Given the description of an element on the screen output the (x, y) to click on. 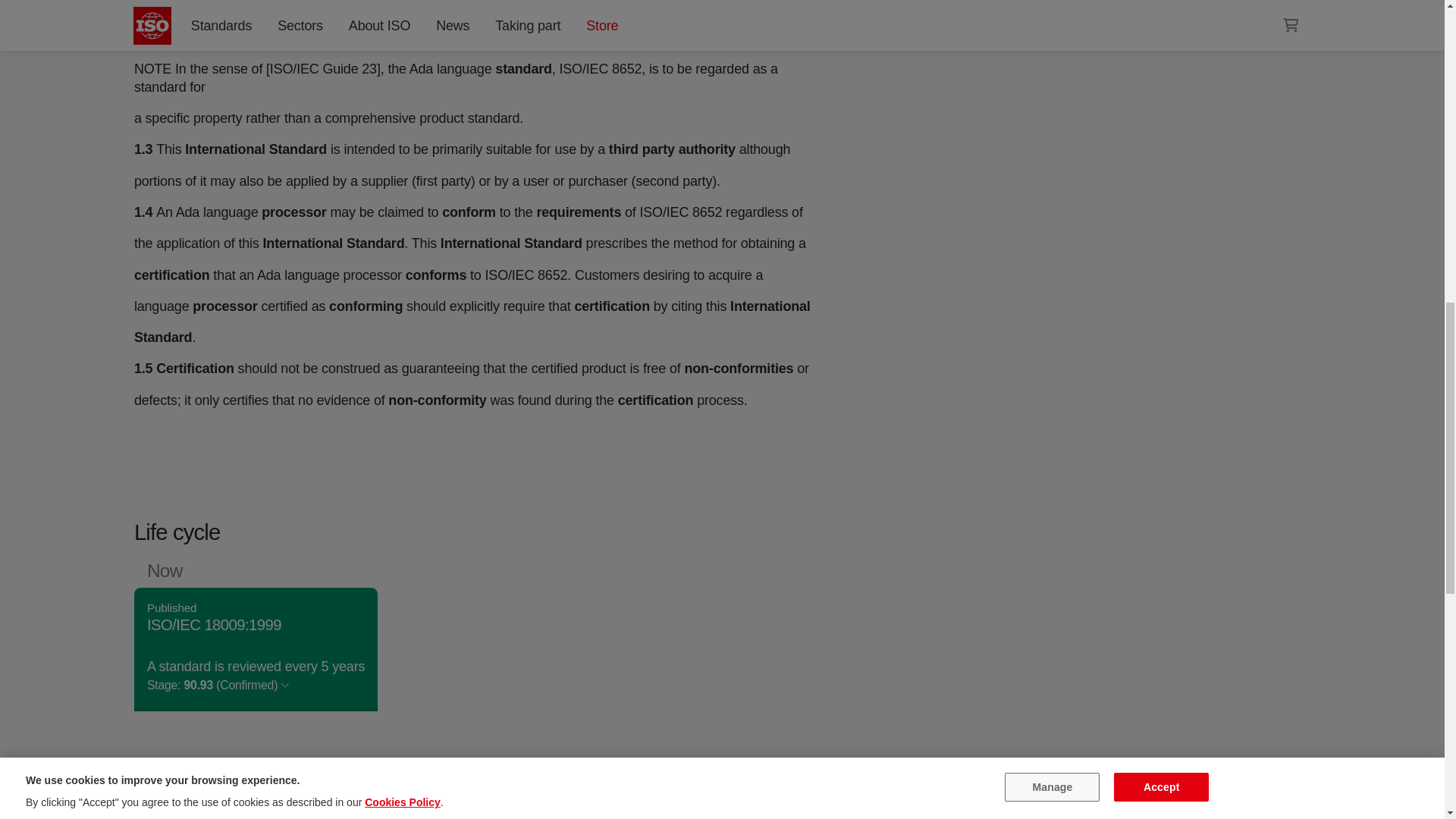
RSS (956, 6)
